Given the description of an element on the screen output the (x, y) to click on. 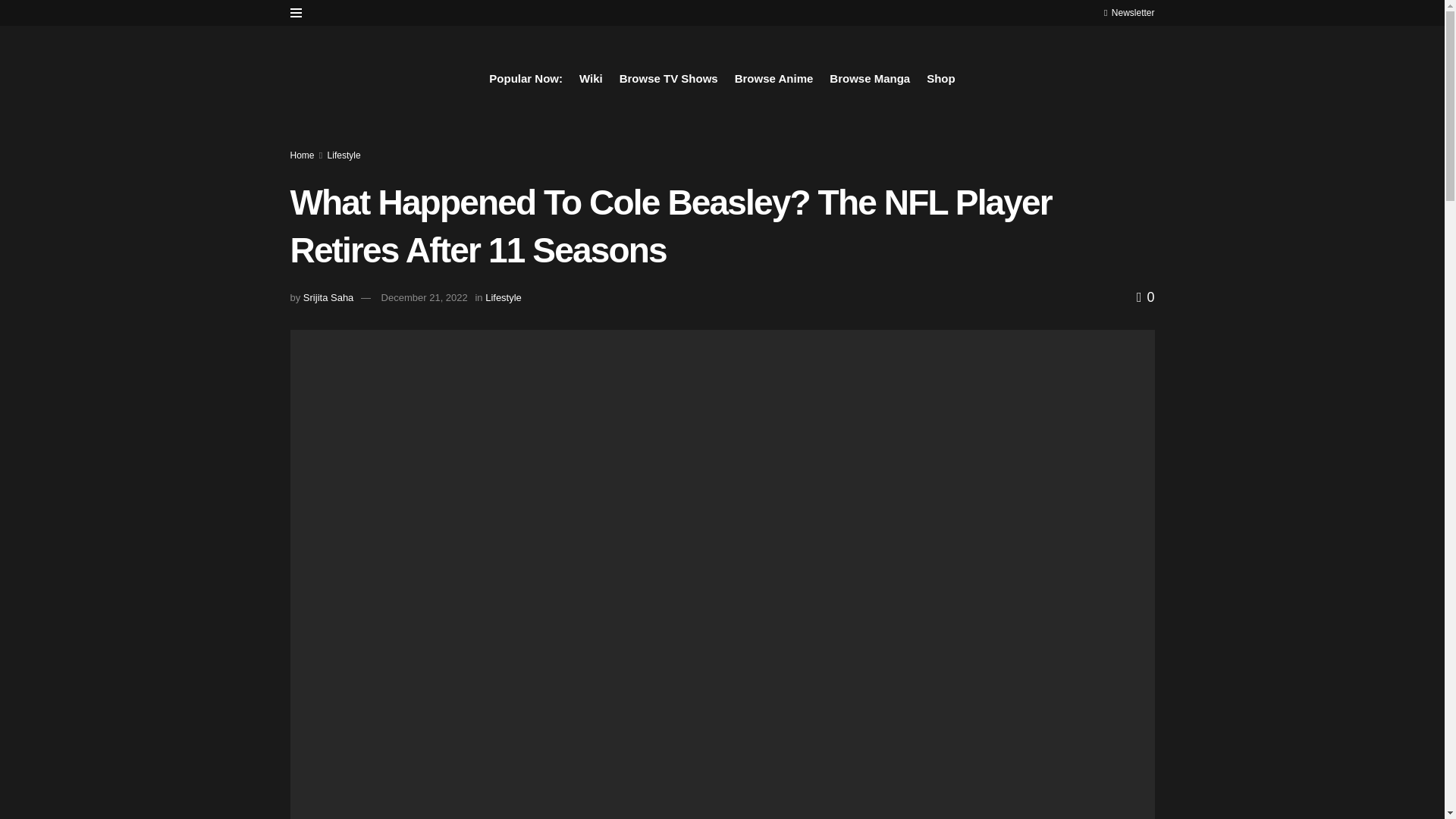
Browse Manga (869, 78)
Lifestyle (344, 154)
Browse Anime (774, 78)
Popular Now: (525, 78)
0 (1145, 296)
Srijita Saha (327, 297)
Lifestyle (502, 297)
December 21, 2022 (424, 297)
Newsletter (1128, 12)
Browse TV Shows (668, 78)
Home (301, 154)
